Given the description of an element on the screen output the (x, y) to click on. 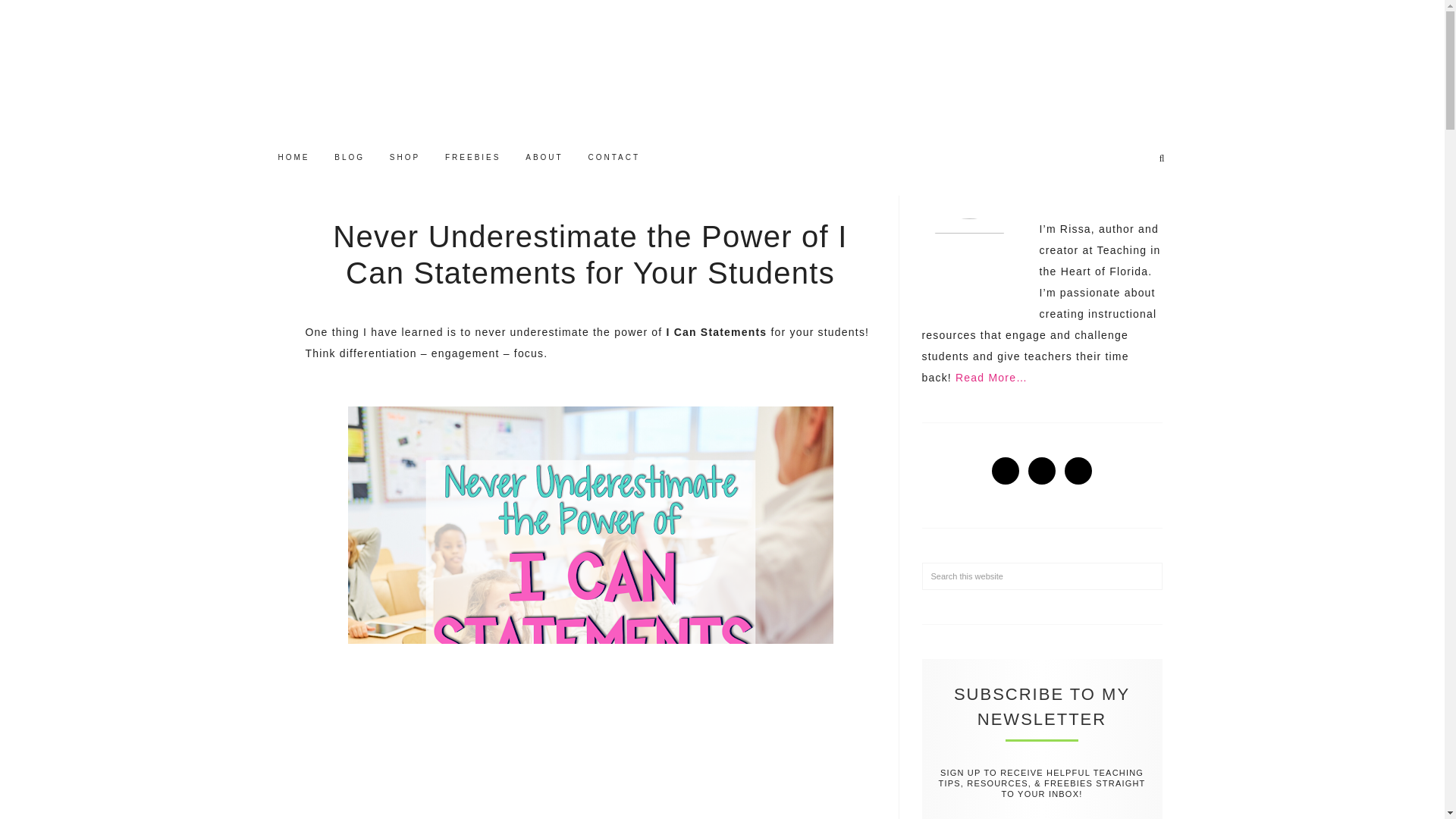
ABOUT (544, 157)
Teaching in the Heart of Florida (721, 68)
SHOP (404, 157)
HOME (293, 157)
FREEBIES (472, 157)
BLOG (349, 157)
CONTACT (613, 157)
